Given the description of an element on the screen output the (x, y) to click on. 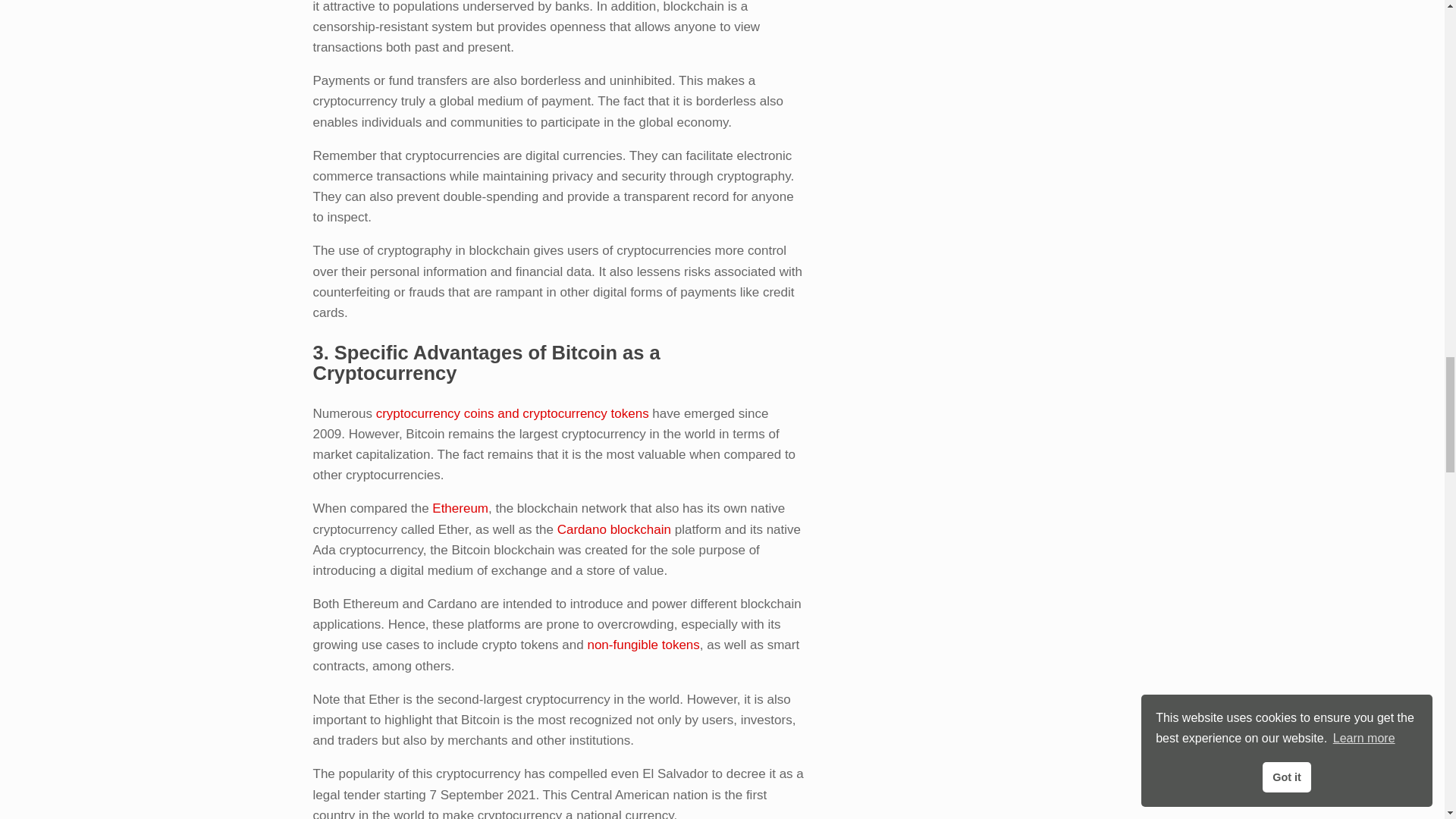
Cardano blockchain (614, 528)
Ethereum (459, 508)
cryptocurrency coins and cryptocurrency tokens (512, 413)
non-fungible tokens (642, 644)
